Given the description of an element on the screen output the (x, y) to click on. 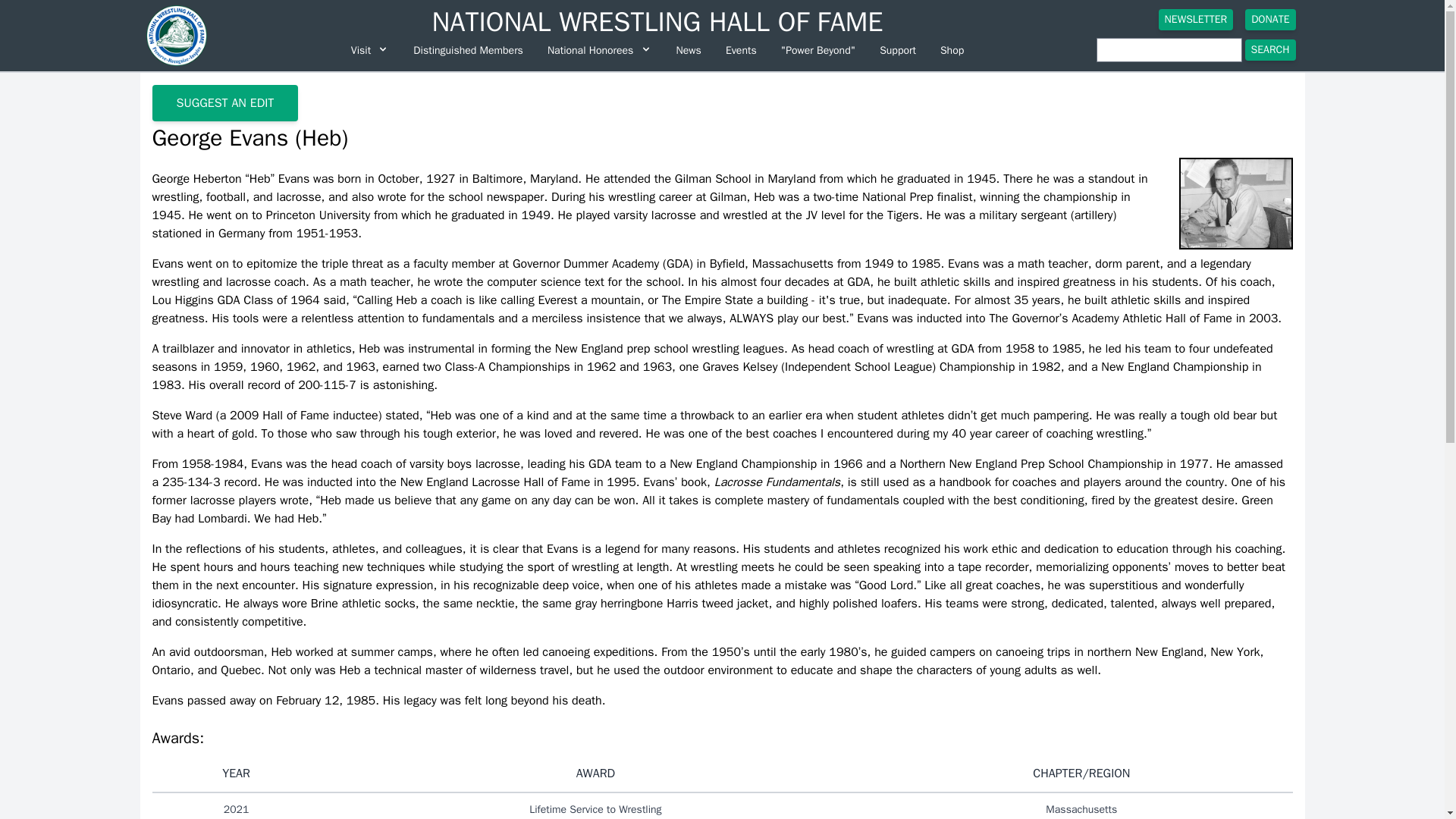
Search (1269, 49)
Shop (951, 50)
National Honorees (599, 50)
News (688, 50)
"Power Beyond" (817, 50)
Visit (370, 50)
NEWSLETTER (1195, 19)
DONATE (1269, 19)
Search (1269, 49)
Events (740, 50)
Distinguished Members (468, 50)
SUGGEST AN EDIT (224, 103)
Support (897, 50)
